Given the description of an element on the screen output the (x, y) to click on. 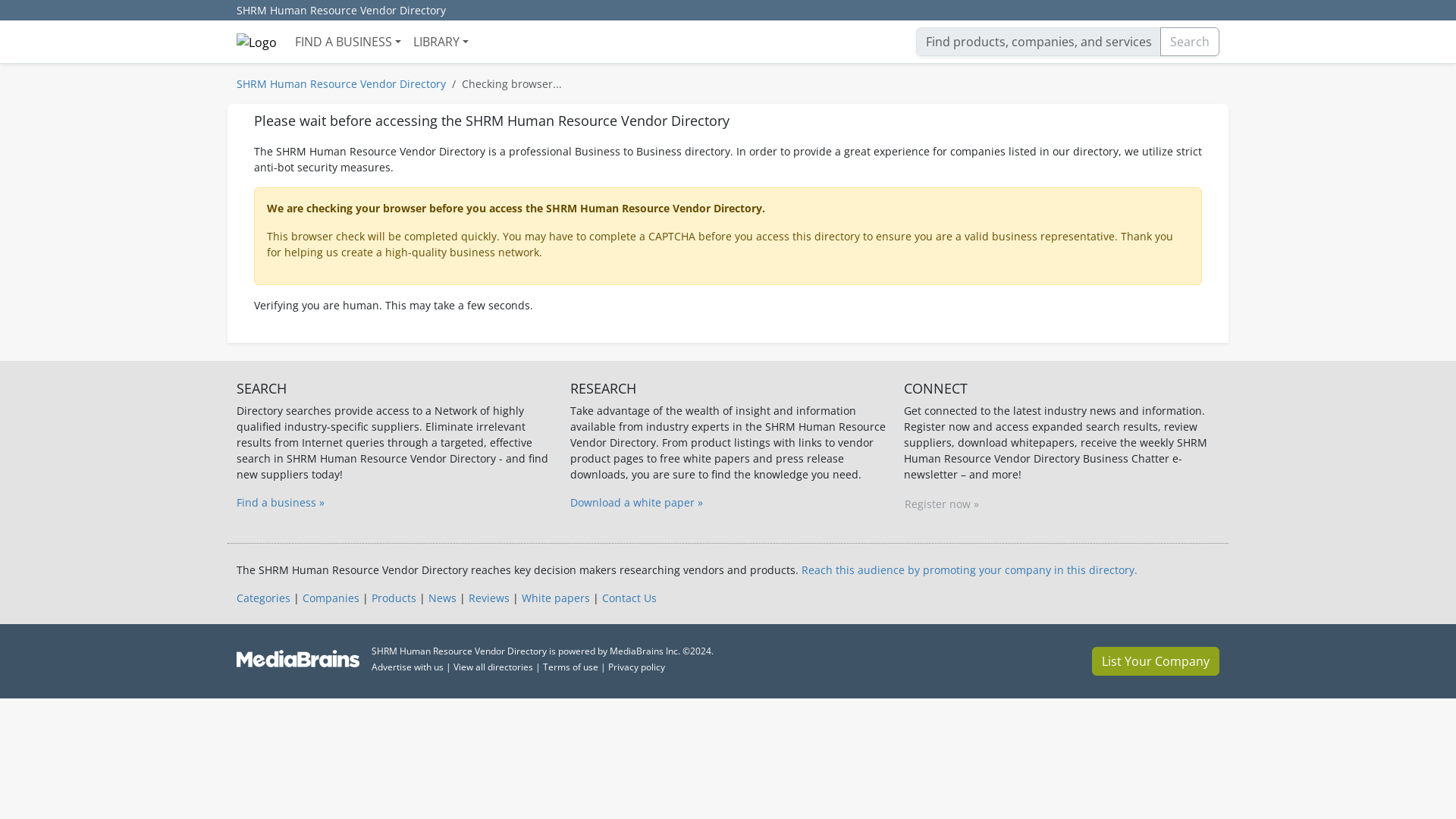
SHRM Human Resource Vendor Directory (340, 83)
Companies (330, 597)
Contact Us (629, 597)
Advertise with us (407, 666)
Terms of use (570, 666)
View all directories (492, 666)
FIND A BUSINESS (347, 41)
LIBRARY (440, 41)
SHRM Human Resource Vendor Directory (341, 10)
